Given the description of an element on the screen output the (x, y) to click on. 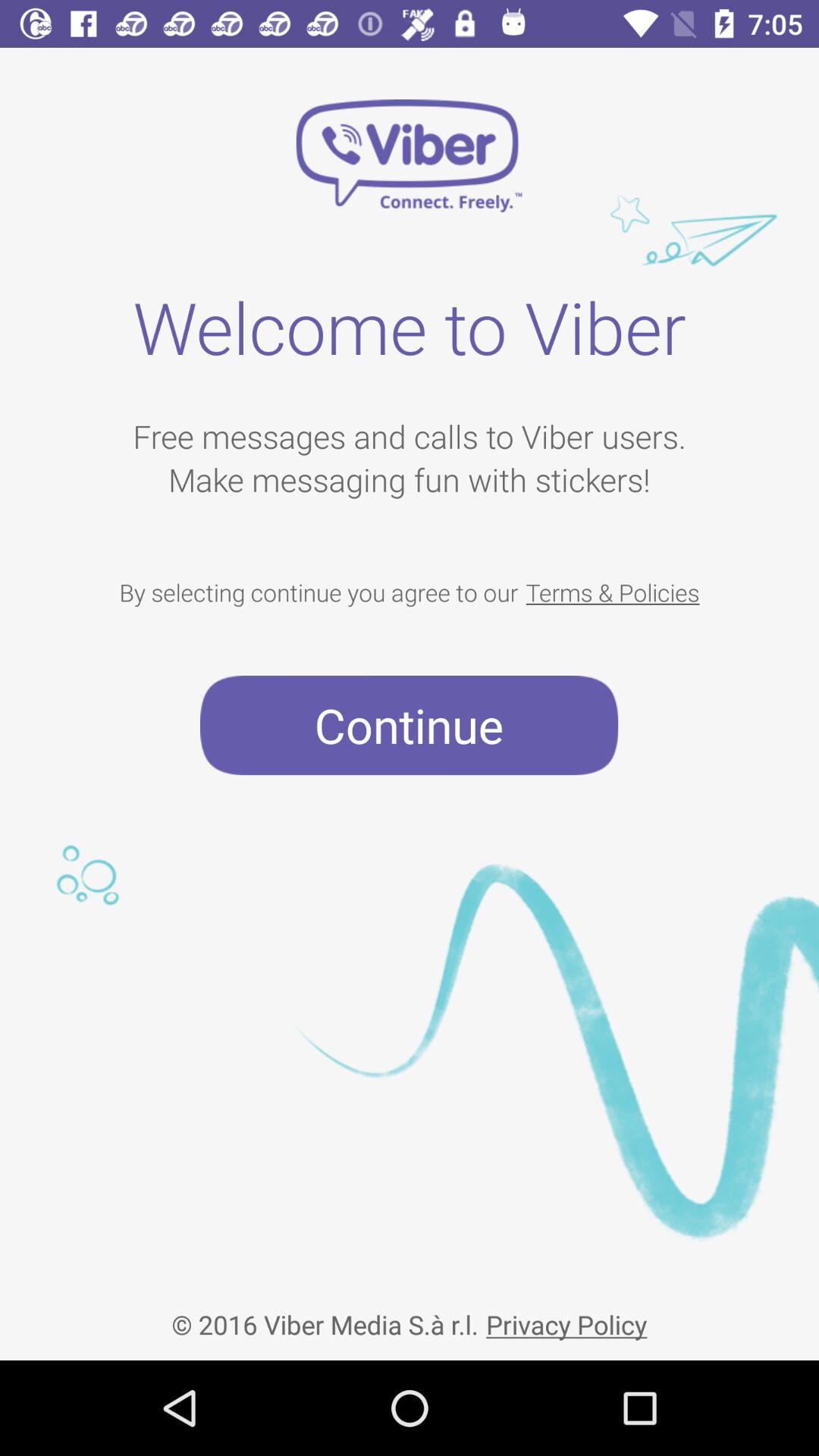
choose the item next to 2016 viber media item (566, 1312)
